Given the description of an element on the screen output the (x, y) to click on. 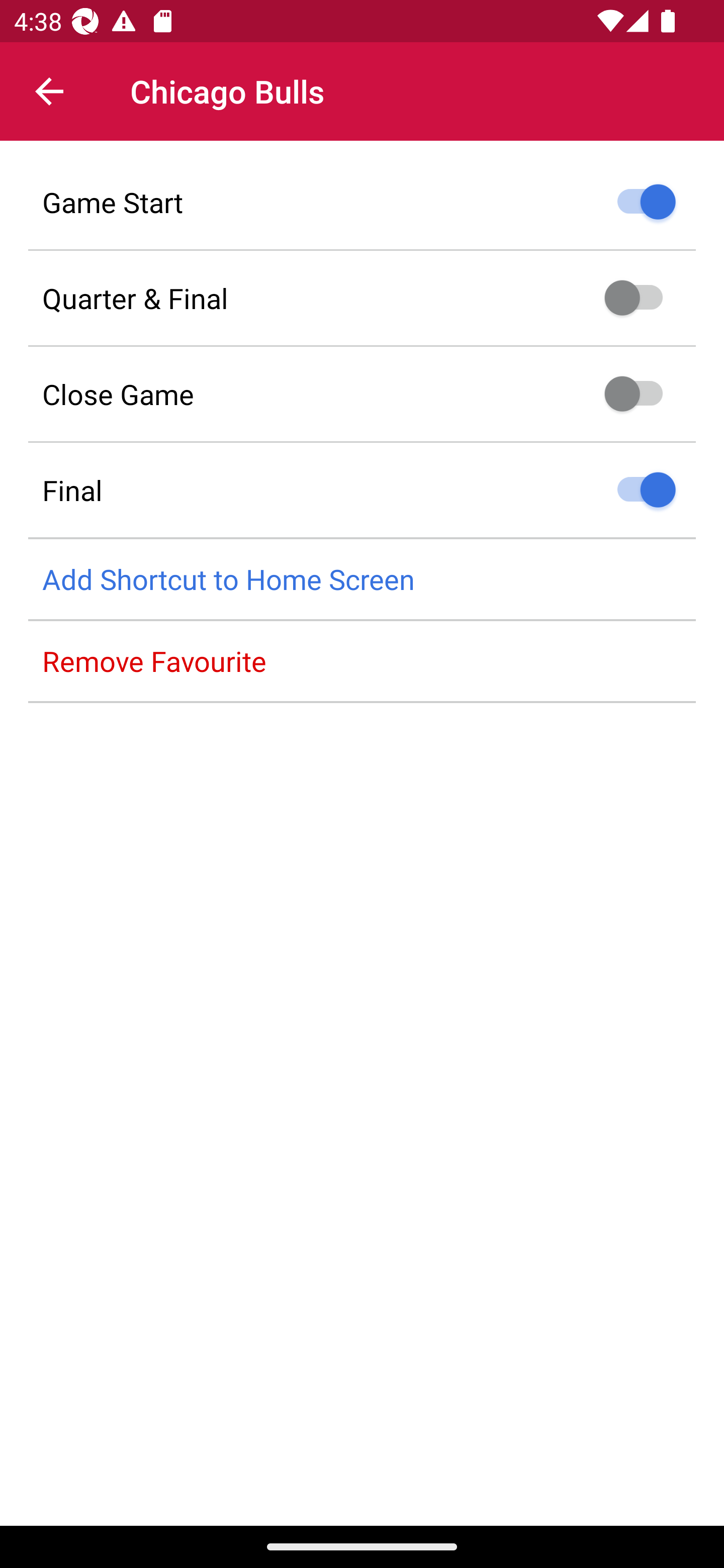
Navigate up (49, 91)
Add Shortcut to Home Screen (362, 579)
Remove Favourite (362, 661)
